Given the description of an element on the screen output the (x, y) to click on. 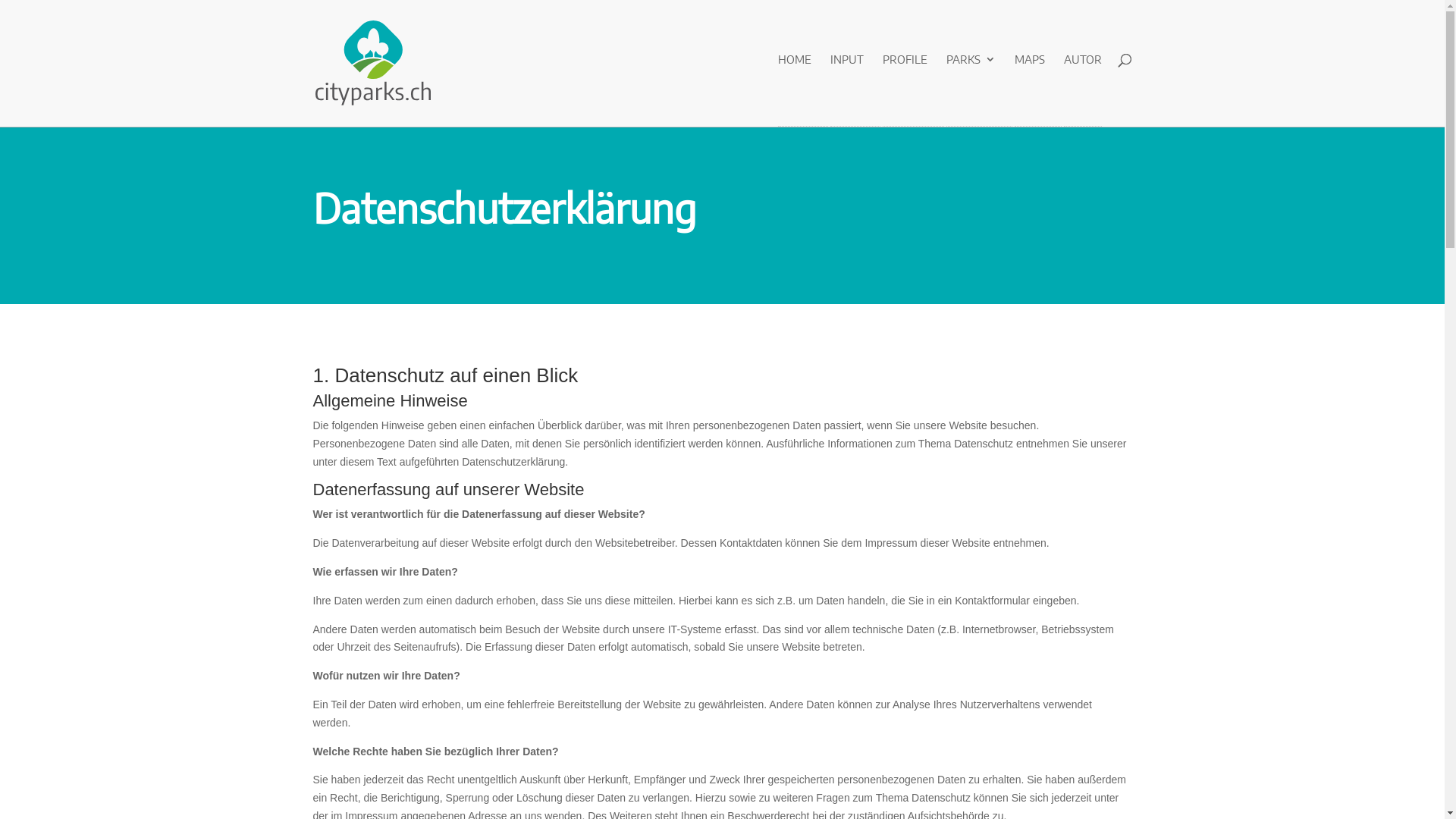
HOME Element type: text (794, 85)
PROFILE Element type: text (904, 85)
INPUT Element type: text (845, 85)
AUTOR Element type: text (1082, 85)
MAPS Element type: text (1029, 85)
PARKS Element type: text (970, 85)
